Given the description of an element on the screen output the (x, y) to click on. 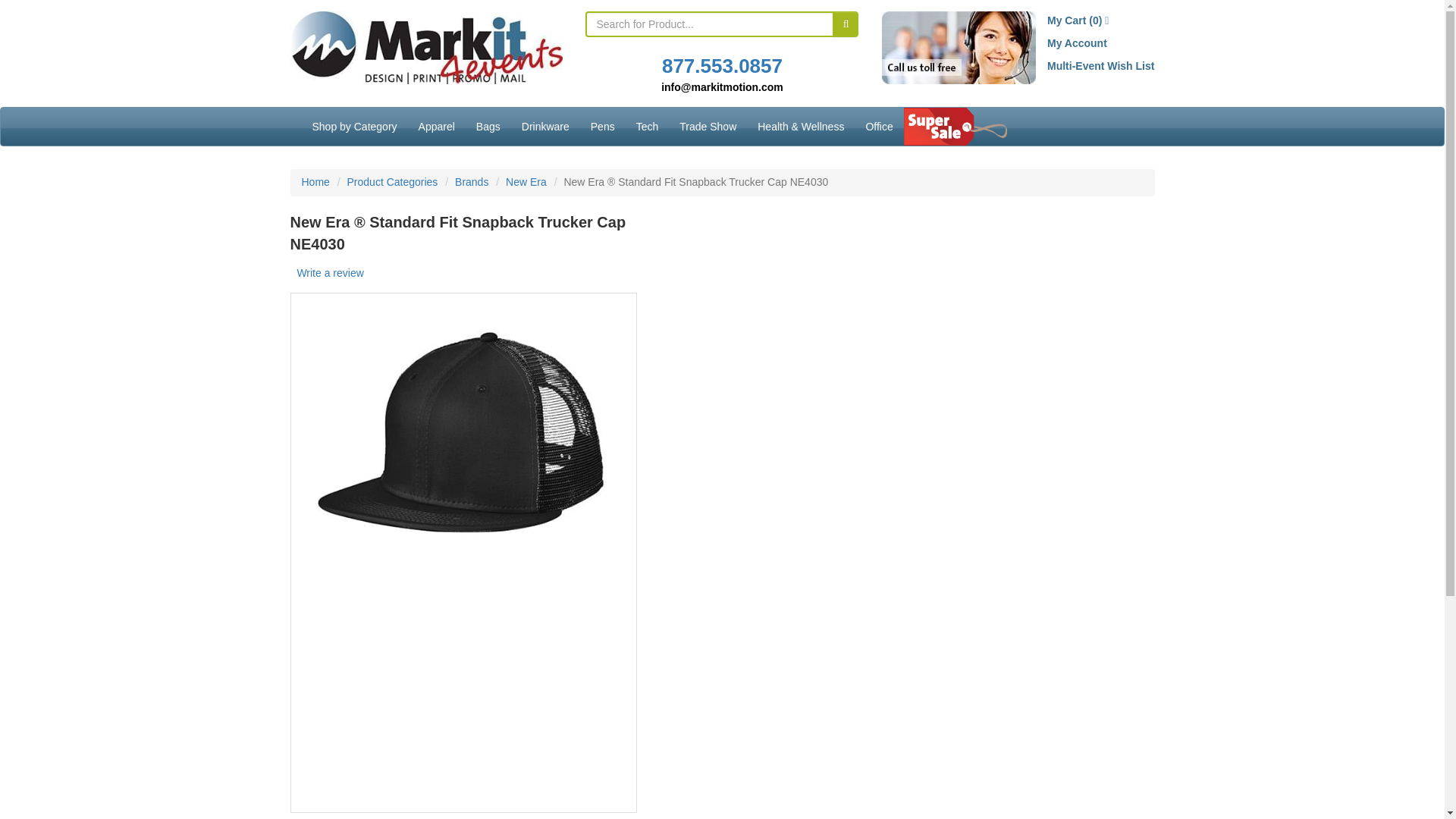
My Account (1076, 42)
Multi-Event Wish List (1100, 65)
Apparel (436, 126)
877.553.0857 (722, 65)
Shop by Category (354, 126)
